Given the description of an element on the screen output the (x, y) to click on. 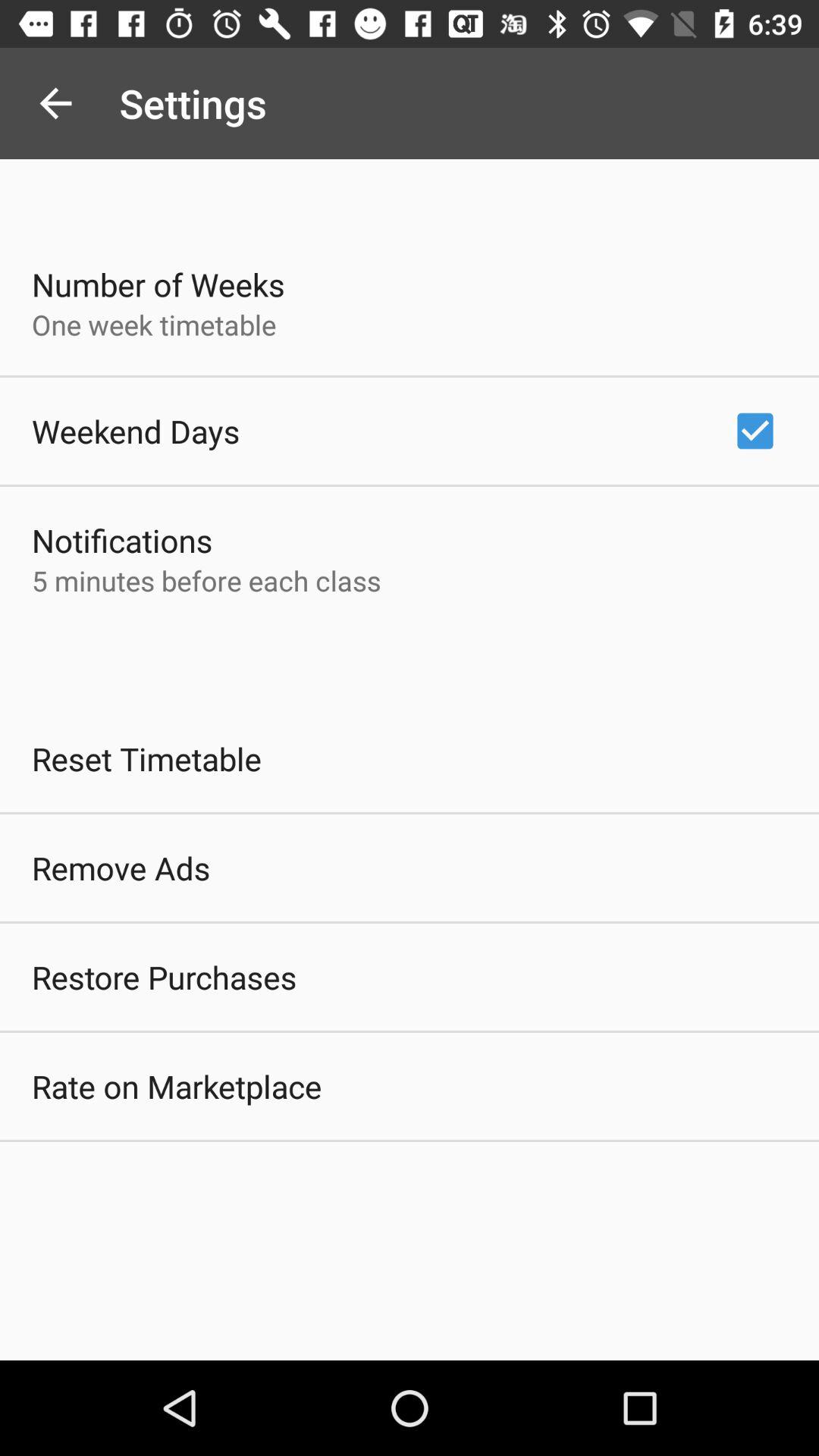
tap the item next to the settings item (55, 103)
